Given the description of an element on the screen output the (x, y) to click on. 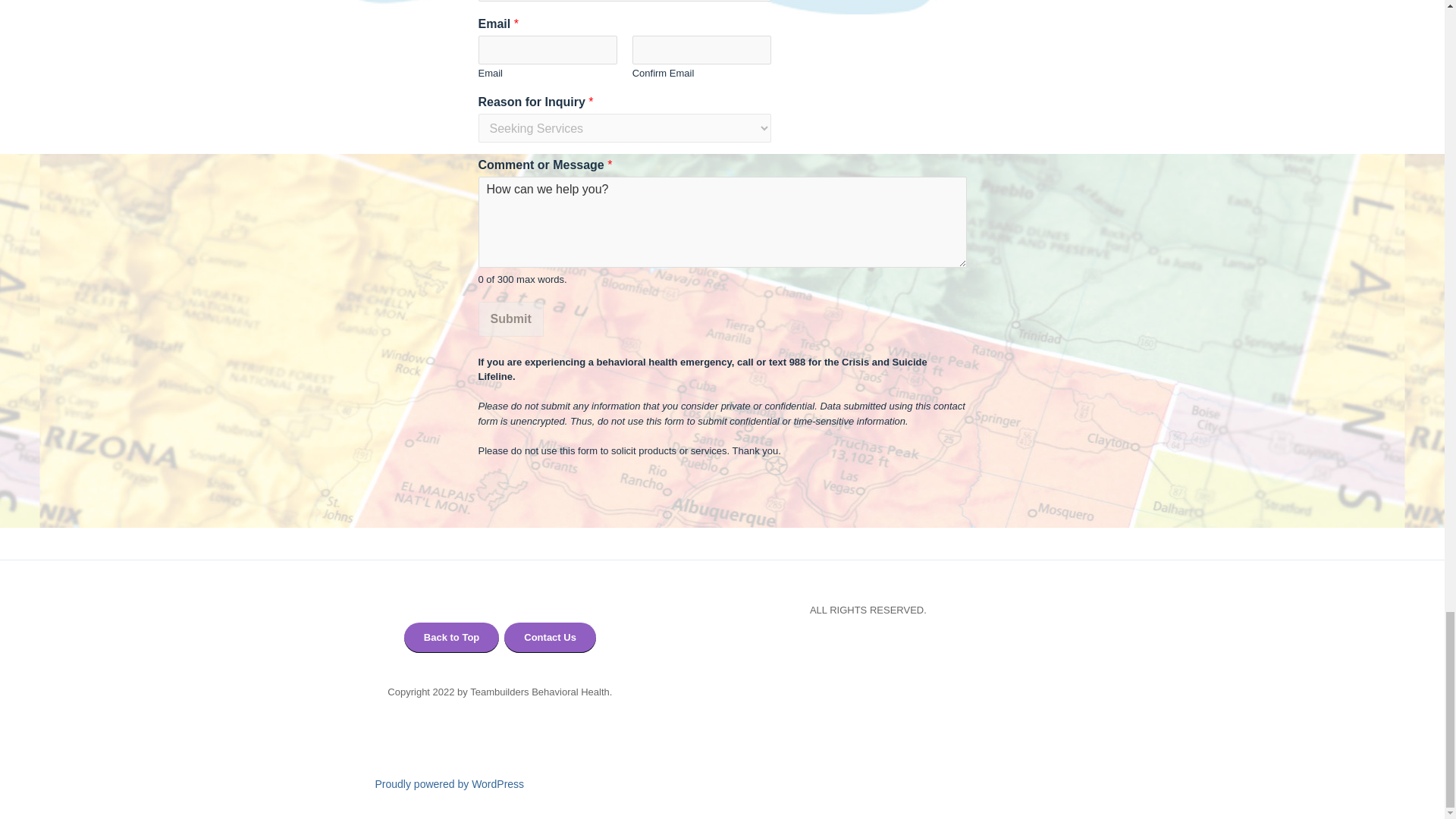
Proudly powered by WordPress (449, 784)
Back to Top (451, 637)
Submit (510, 319)
Contact Us (549, 637)
